Given the description of an element on the screen output the (x, y) to click on. 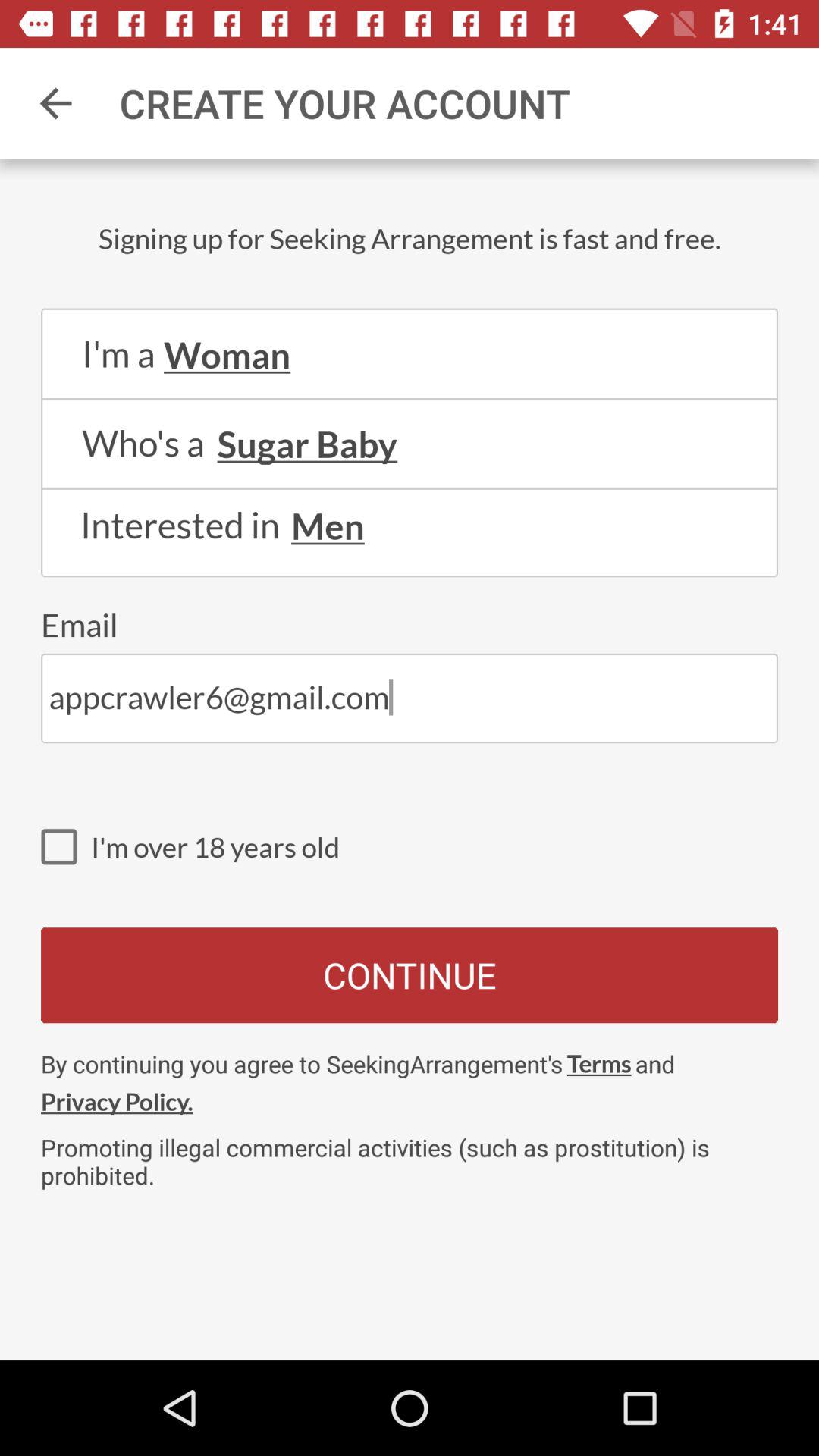
scroll to terms item (599, 1063)
